Given the description of an element on the screen output the (x, y) to click on. 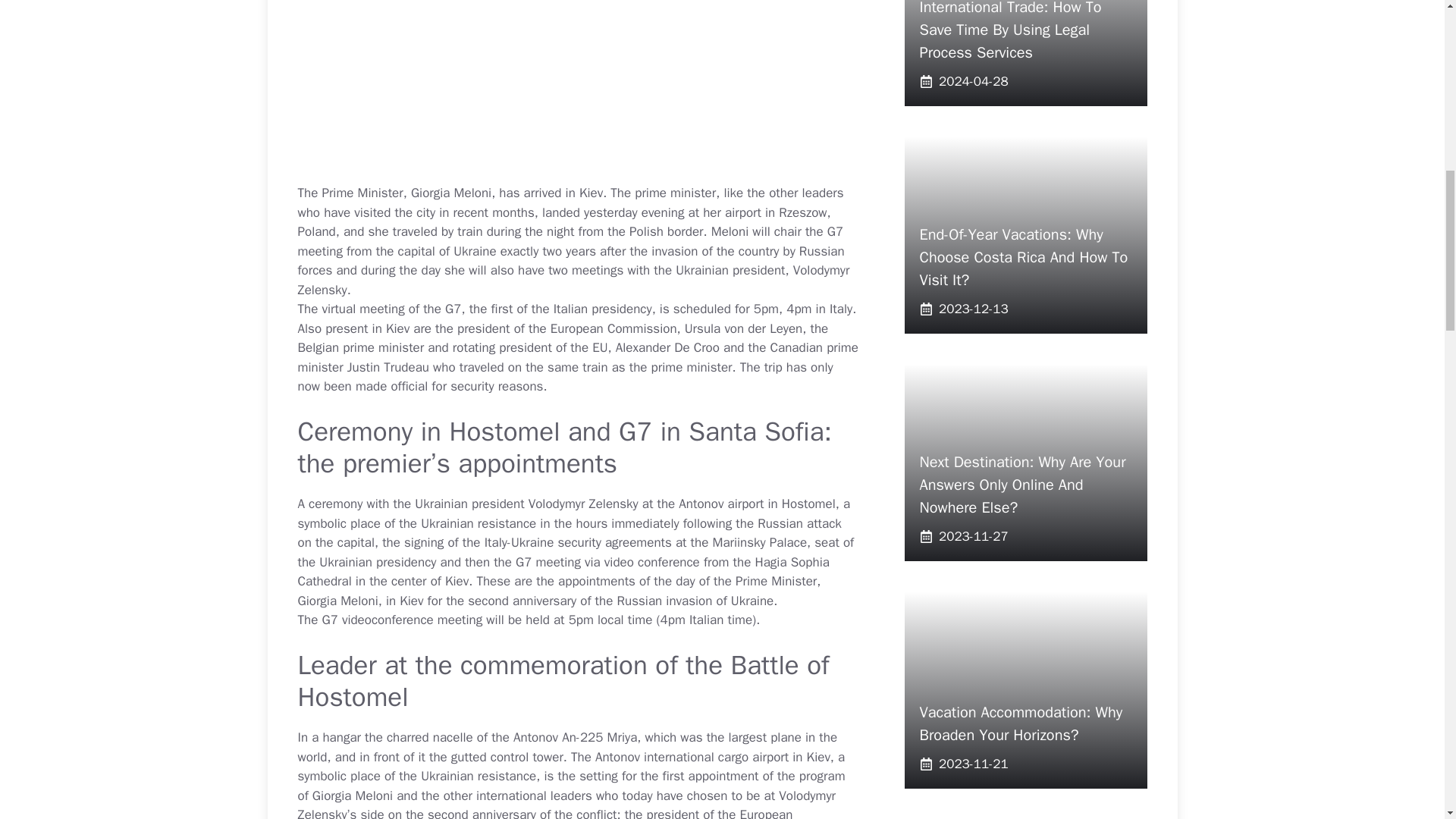
Scroll back to top (1406, 720)
Vacation Accommodation: Why Broaden Your Horizons? (1020, 723)
